Given the description of an element on the screen output the (x, y) to click on. 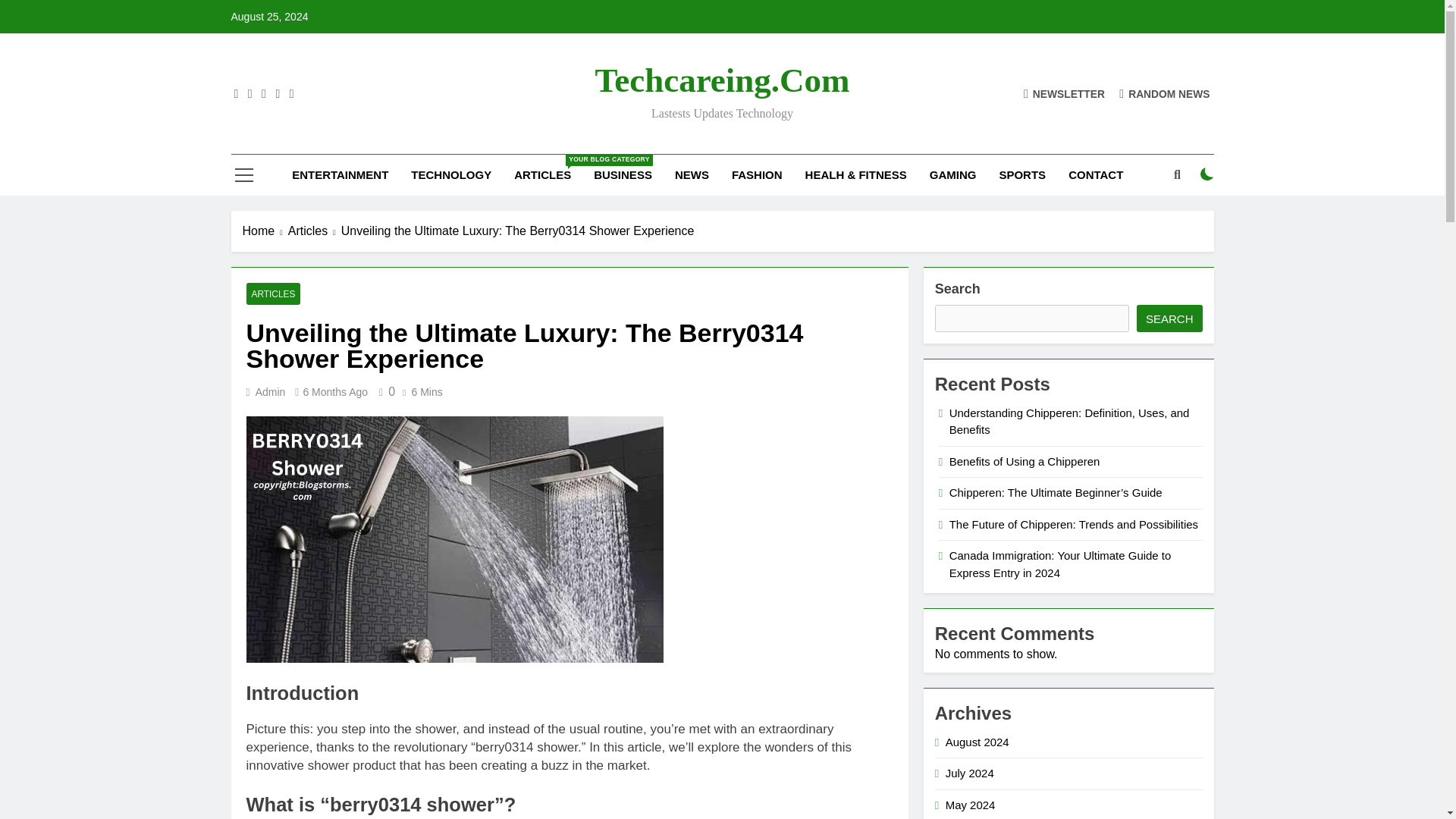
Articles (314, 230)
Home (265, 230)
NEWSLETTER (1064, 92)
FASHION (756, 174)
ARTICLES (272, 293)
CONTACT (1095, 174)
RANDOM NEWS (542, 174)
TECHNOLOGY (1164, 92)
Techcareing.Com (450, 174)
